Given the description of an element on the screen output the (x, y) to click on. 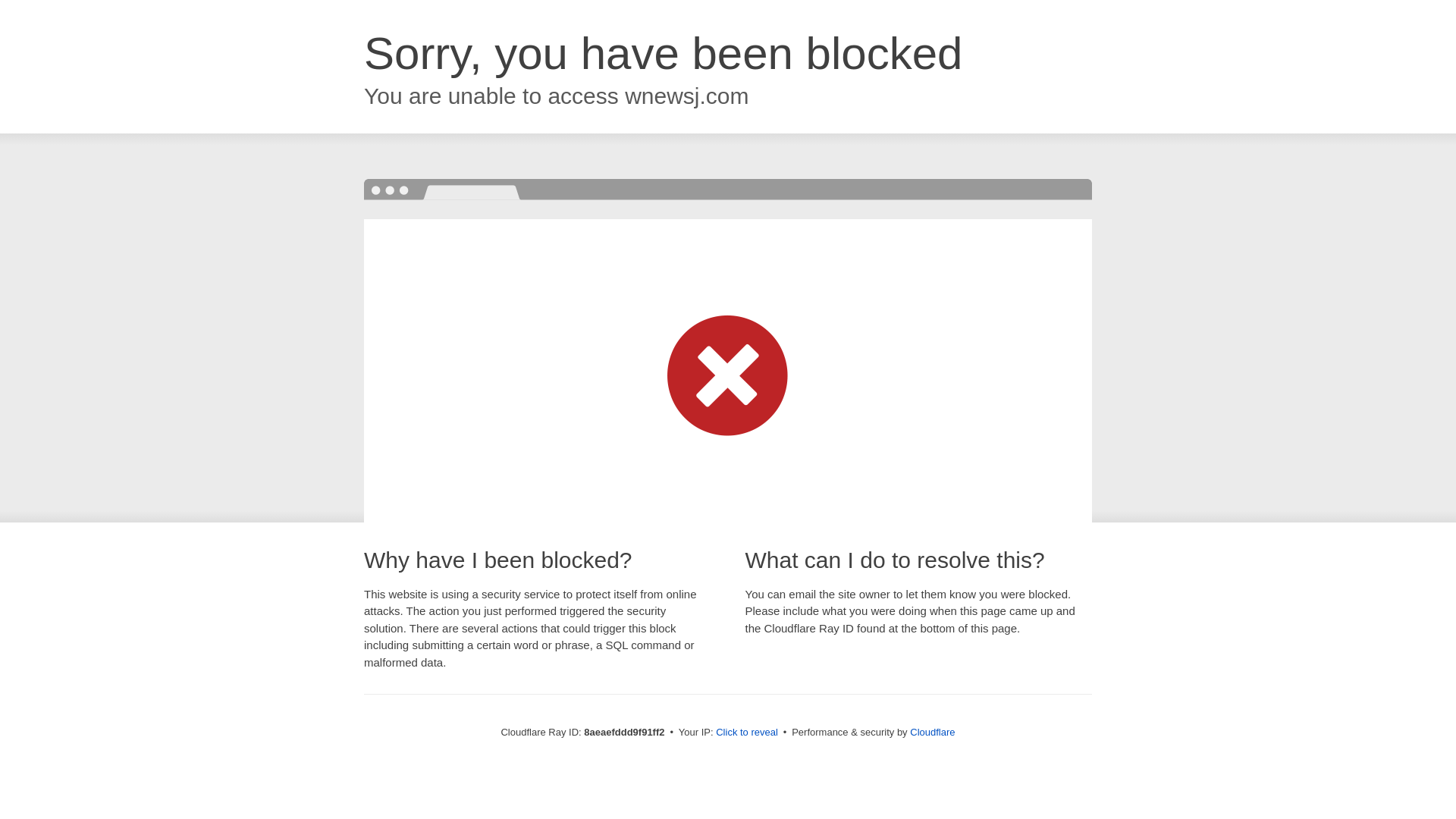
Cloudflare (932, 731)
Click to reveal (746, 732)
